Given the description of an element on the screen output the (x, y) to click on. 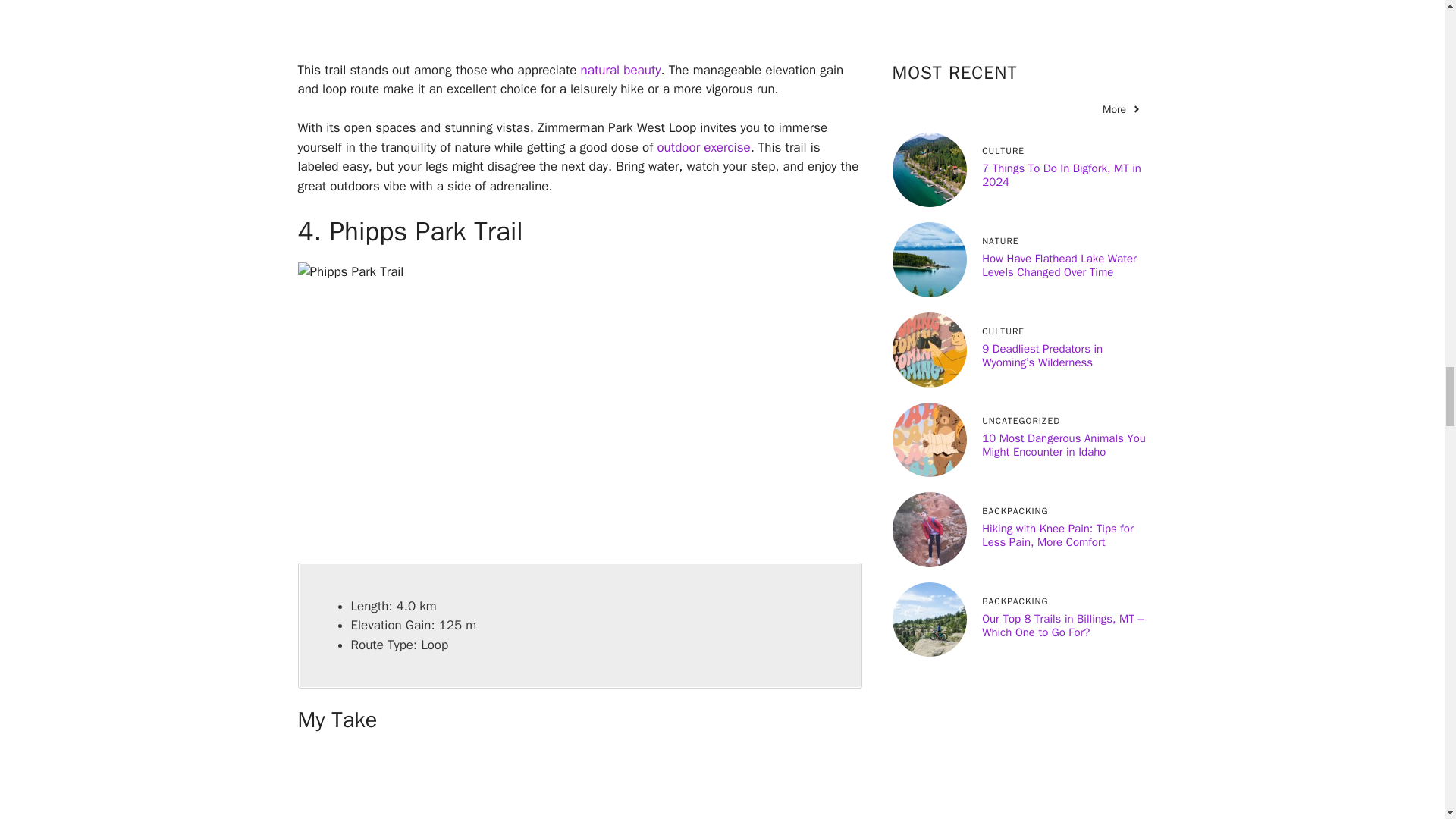
natural beauty (620, 69)
outdoor exercise (702, 147)
